Given the description of an element on the screen output the (x, y) to click on. 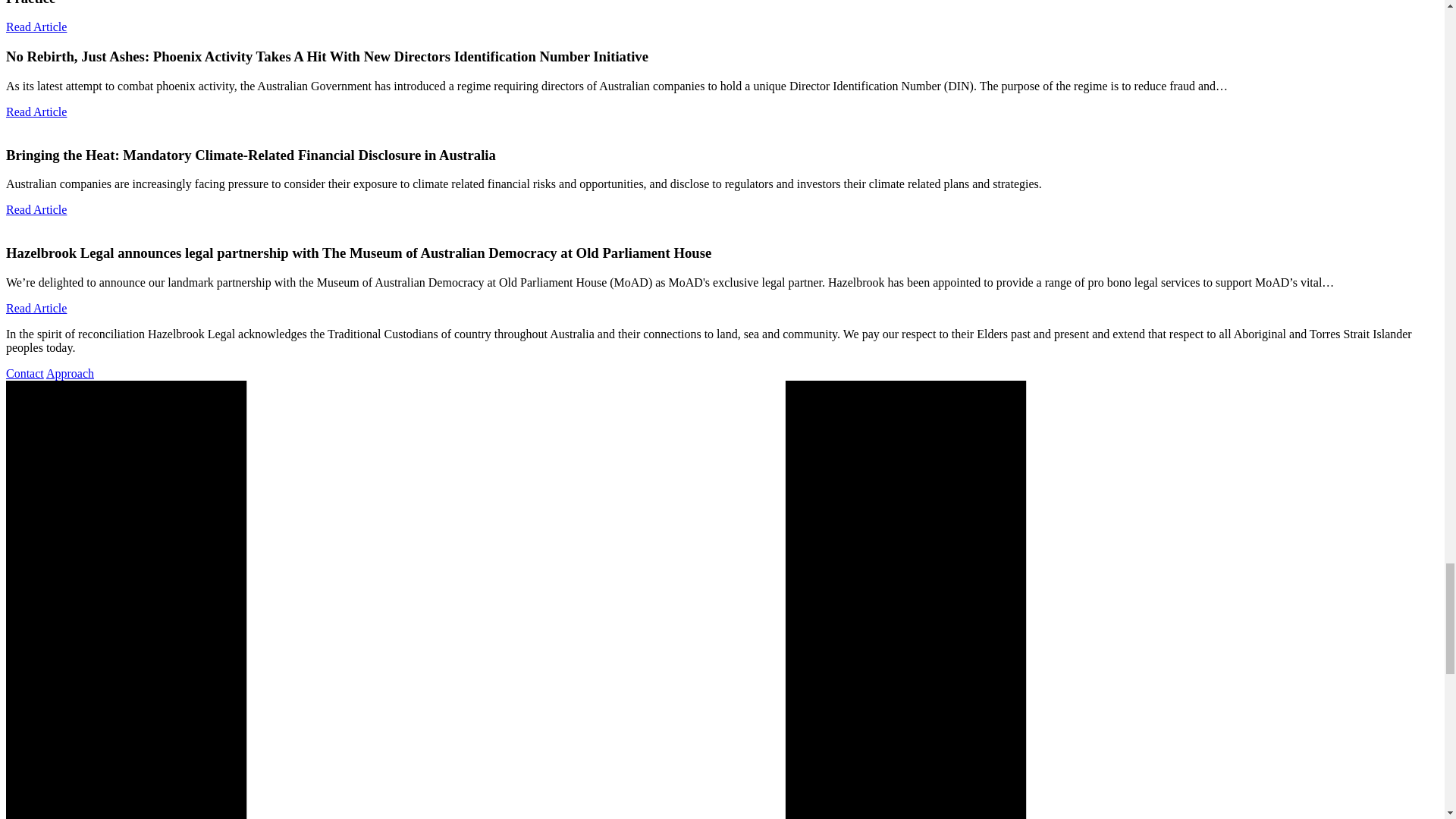
Approach (70, 373)
Contact (24, 373)
Read Article (35, 209)
Read Article (35, 308)
Read Article (35, 111)
Read Article (35, 26)
